Given the description of an element on the screen output the (x, y) to click on. 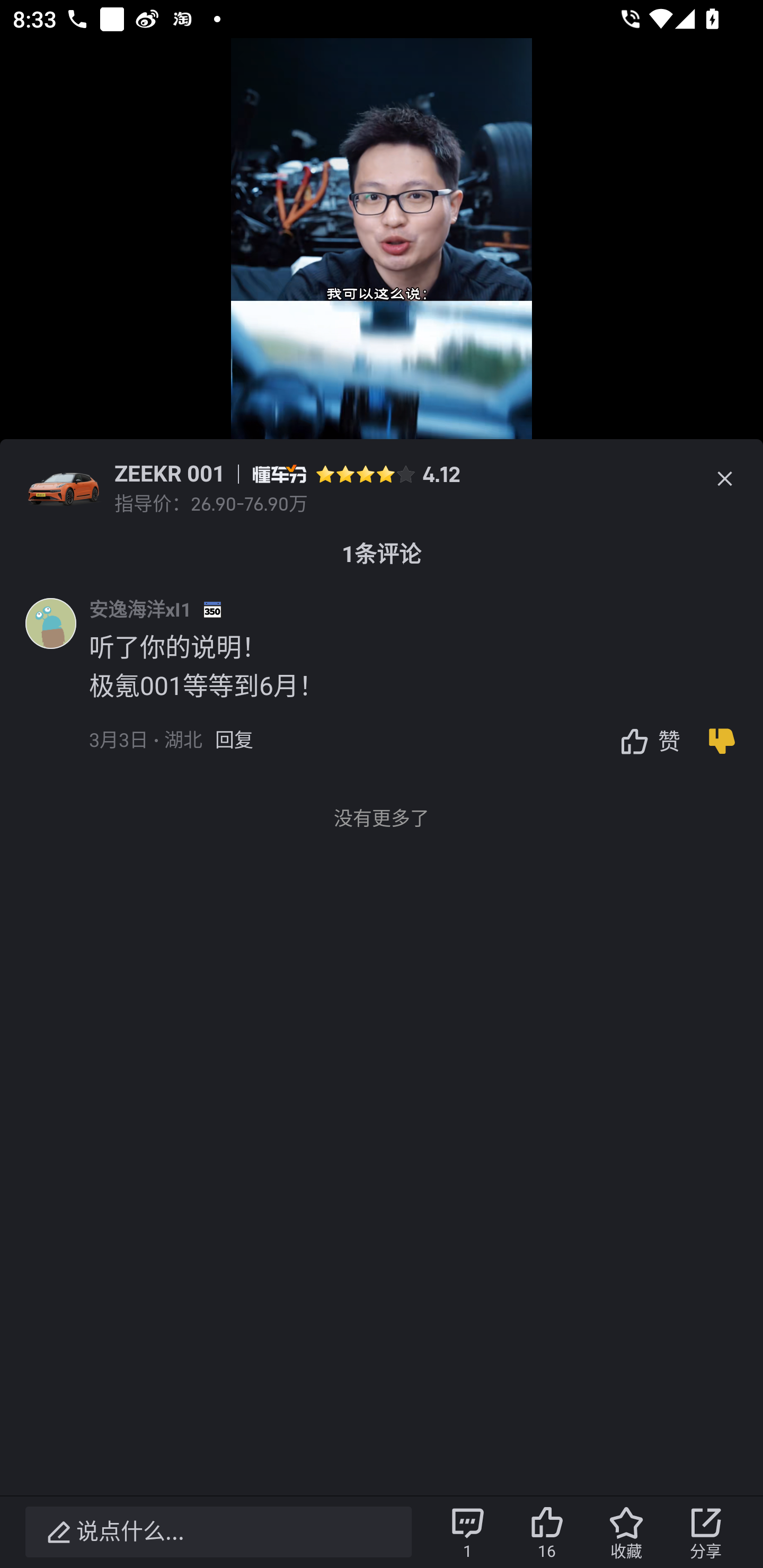
ZEEKR 001 4.12 指导价：26.90-76.90万 (381, 479)
安逸海洋xI1 听了你的说明！
极氪001等等到6月！ 3月3日 < >湖北 回复 赞 (426, 686)
安逸海洋xI1 (140, 609)
赞 (645, 740)
 1 (467, 1531)
16 (546, 1531)
收藏 (625, 1531)
 分享 (705, 1531)
 说点什么... (218, 1531)
